Given the description of an element on the screen output the (x, y) to click on. 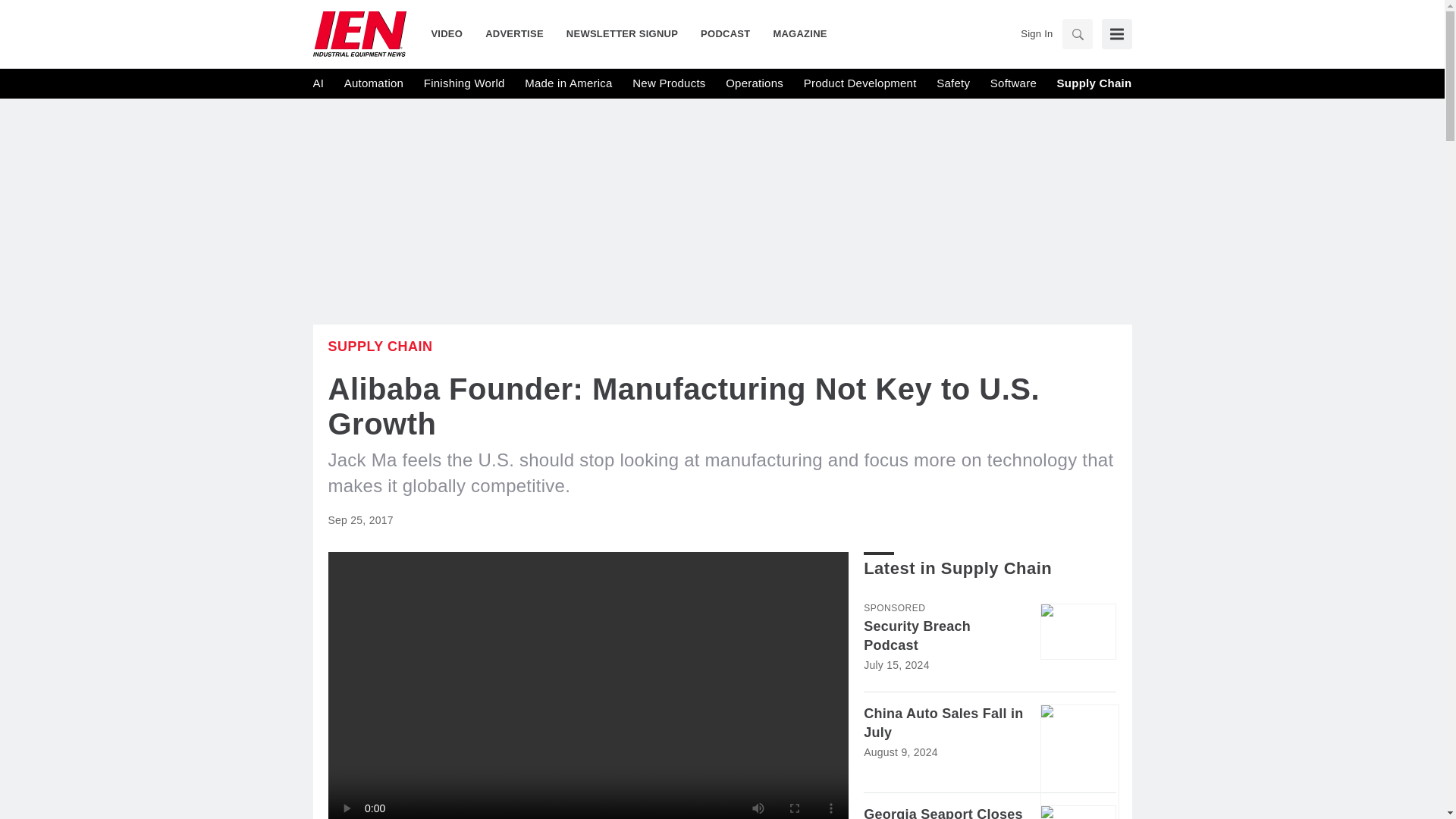
Automation (373, 83)
Supply Chain (1094, 83)
Product Development (860, 83)
NEWSLETTER SIGNUP (621, 33)
ADVERTISE (514, 33)
Supply Chain (379, 346)
Finishing World (464, 83)
PODCAST (724, 33)
VIDEO (452, 33)
MAGAZINE (794, 33)
